Given the description of an element on the screen output the (x, y) to click on. 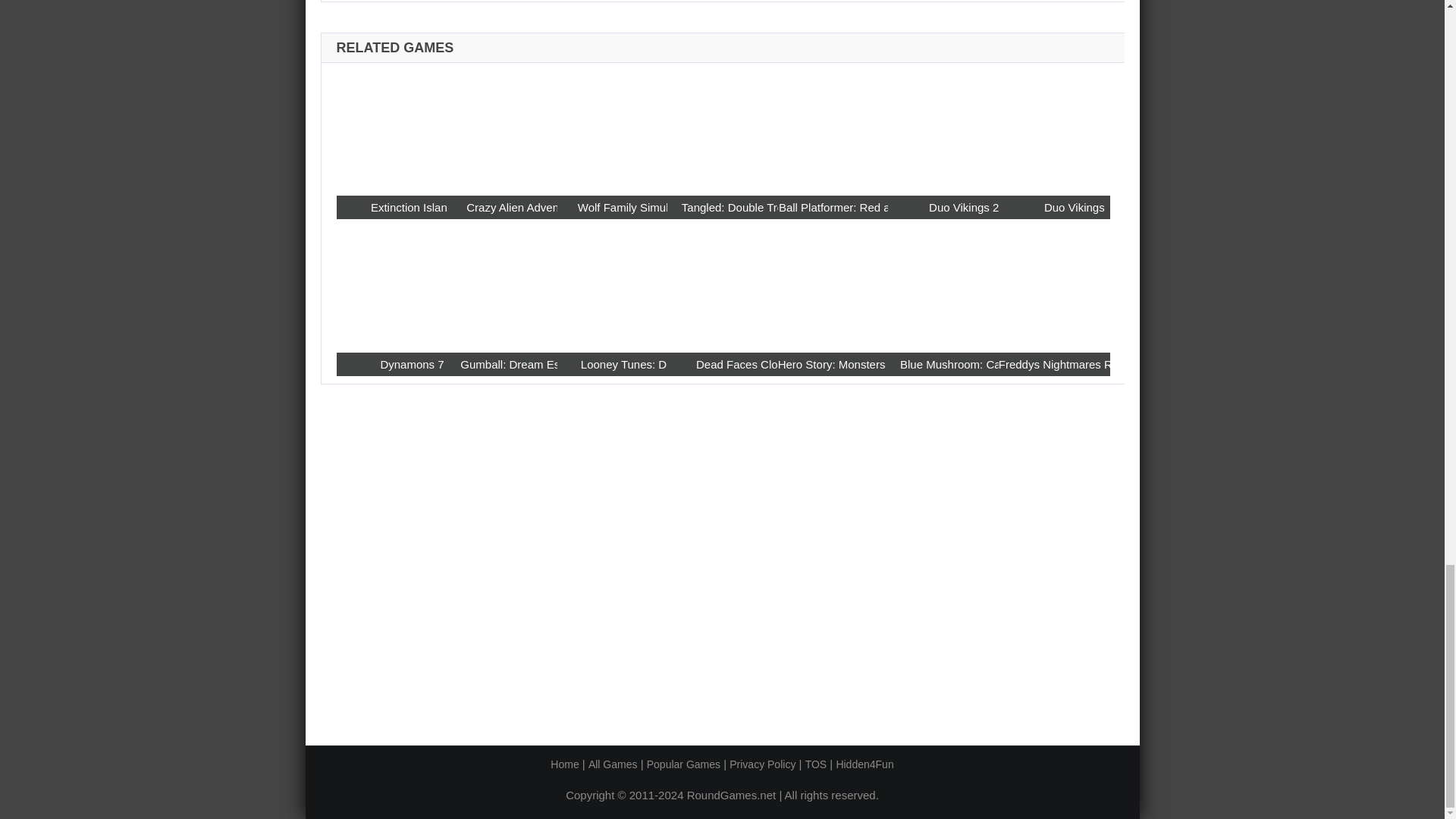
Ball Platformer: Red and Blue (853, 207)
Crazy Alien Adventure (501, 128)
Duo Vikings 2 (943, 128)
Ball Platformer: Red and Blue (832, 128)
Wolf Family Simulator (633, 207)
Duo Vikings (1053, 128)
Duo Vikings 2 (963, 207)
Tangled: Double Trouble (721, 128)
Extinction Island (411, 207)
Crazy Alien Adventure (522, 207)
